Given the description of an element on the screen output the (x, y) to click on. 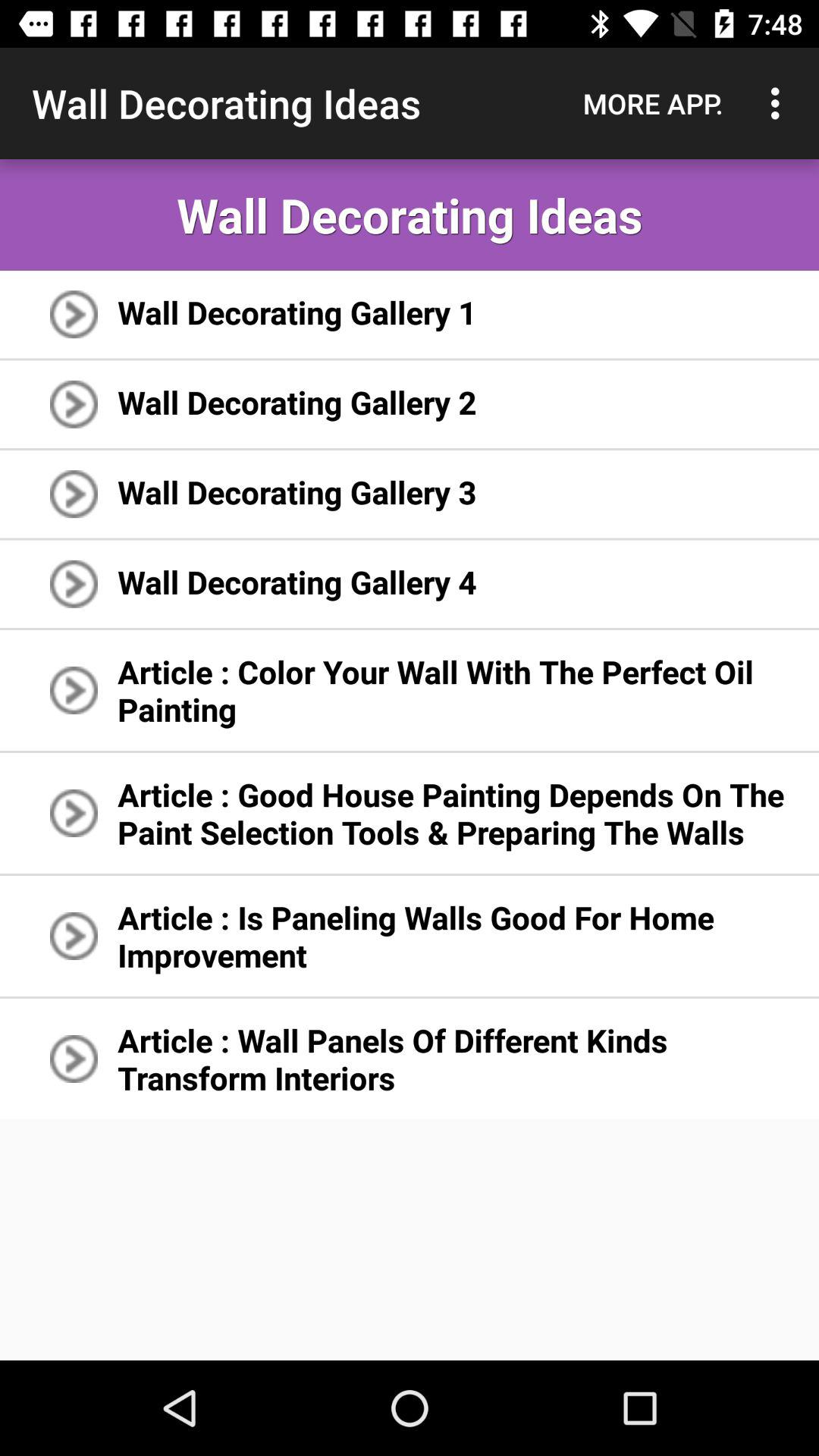
choose the icon to the right of wall decorating ideas item (653, 103)
